Given the description of an element on the screen output the (x, y) to click on. 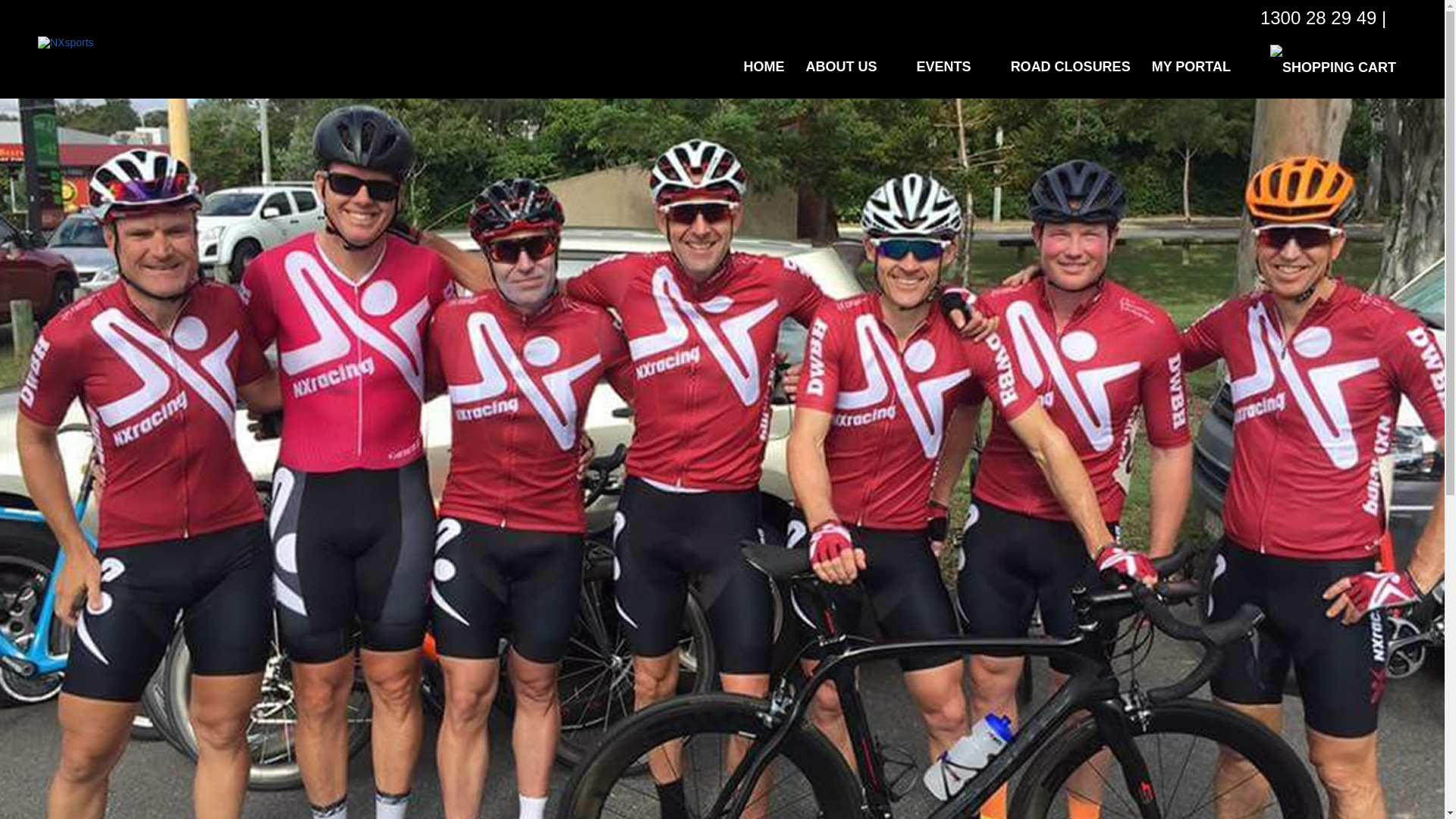
ABOUT US (849, 66)
HOME (763, 66)
MY PORTAL (1200, 66)
EVENTS (952, 66)
ROAD CLOSURES (1070, 66)
